Given the description of an element on the screen output the (x, y) to click on. 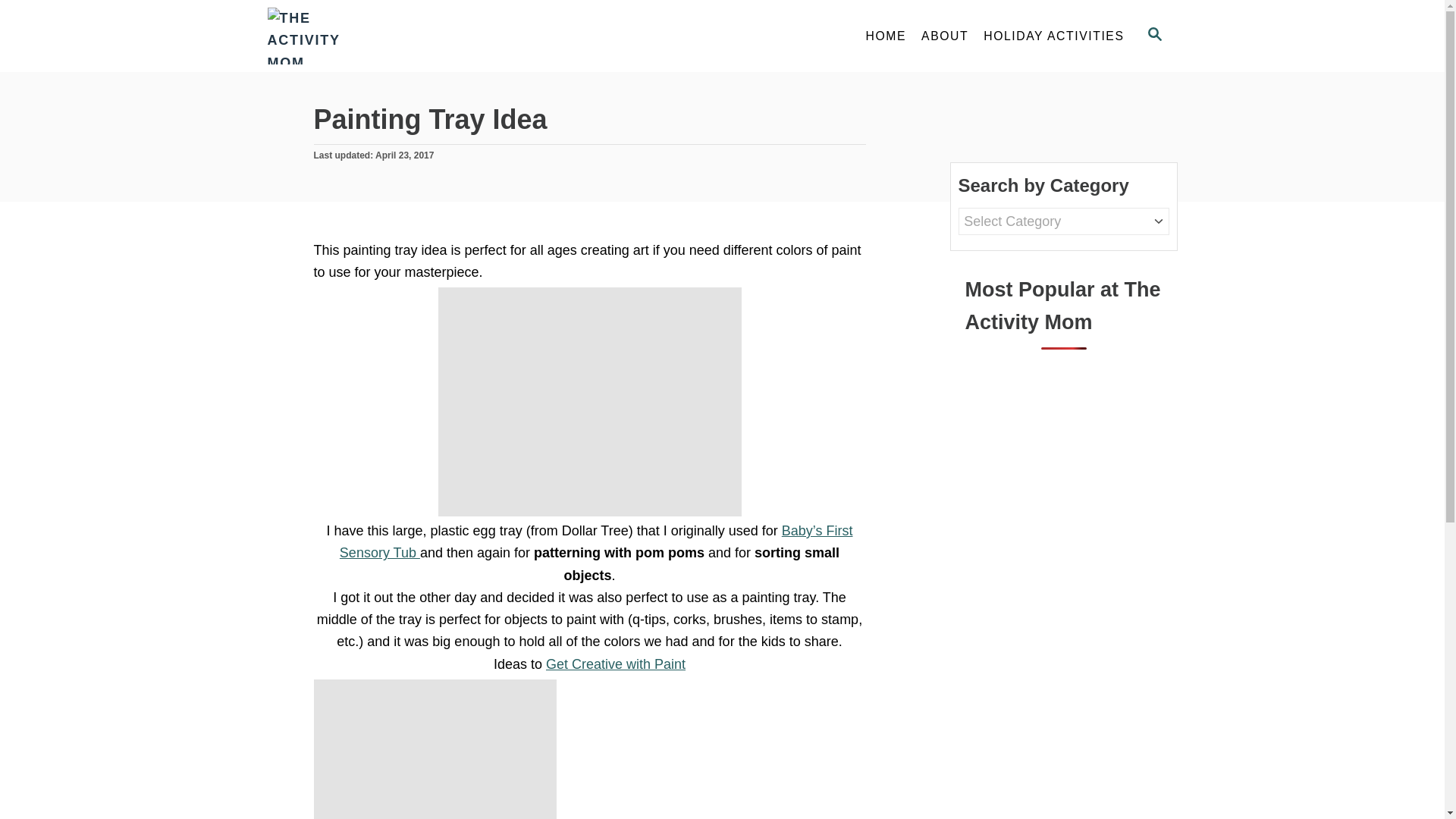
HOLIDAY ACTIVITIES (1153, 35)
MAGNIFYING GLASS (1053, 36)
HOME (1153, 34)
Get Creative with Paint (885, 36)
ABOUT (615, 663)
The Activity Mom (944, 36)
